Given the description of an element on the screen output the (x, y) to click on. 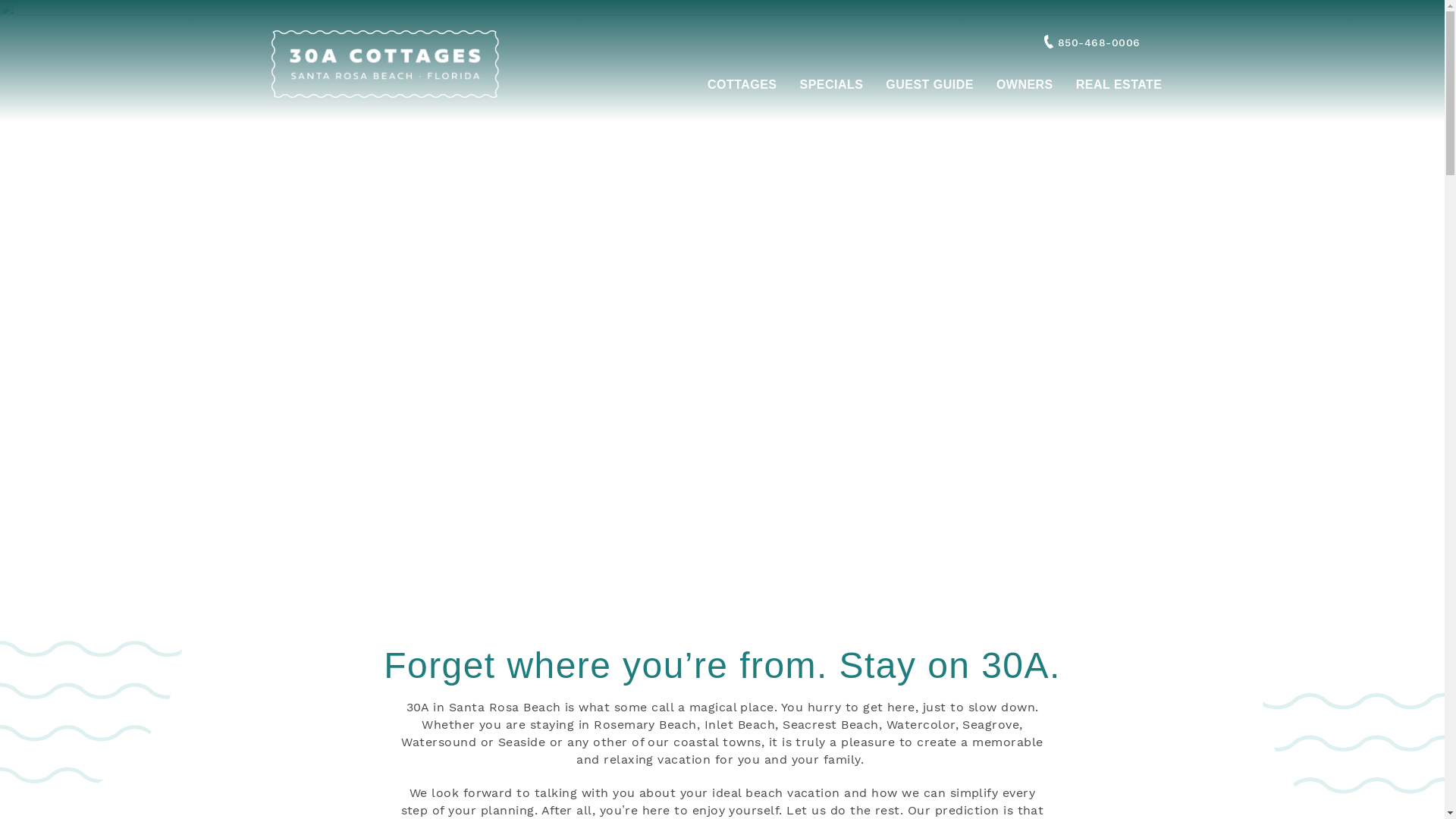
Skip to main content Element type: text (62, 0)
Home Element type: hover (384, 62)
OWNERS Element type: text (1024, 86)
REAL ESTATE Element type: text (1118, 86)
COTTAGES Element type: text (742, 86)
SPECIALS Element type: text (831, 86)
GUEST GUIDE Element type: text (929, 86)
30A Cottages Element type: text (309, 103)
850-468-0006 Element type: text (1088, 42)
